Given the description of an element on the screen output the (x, y) to click on. 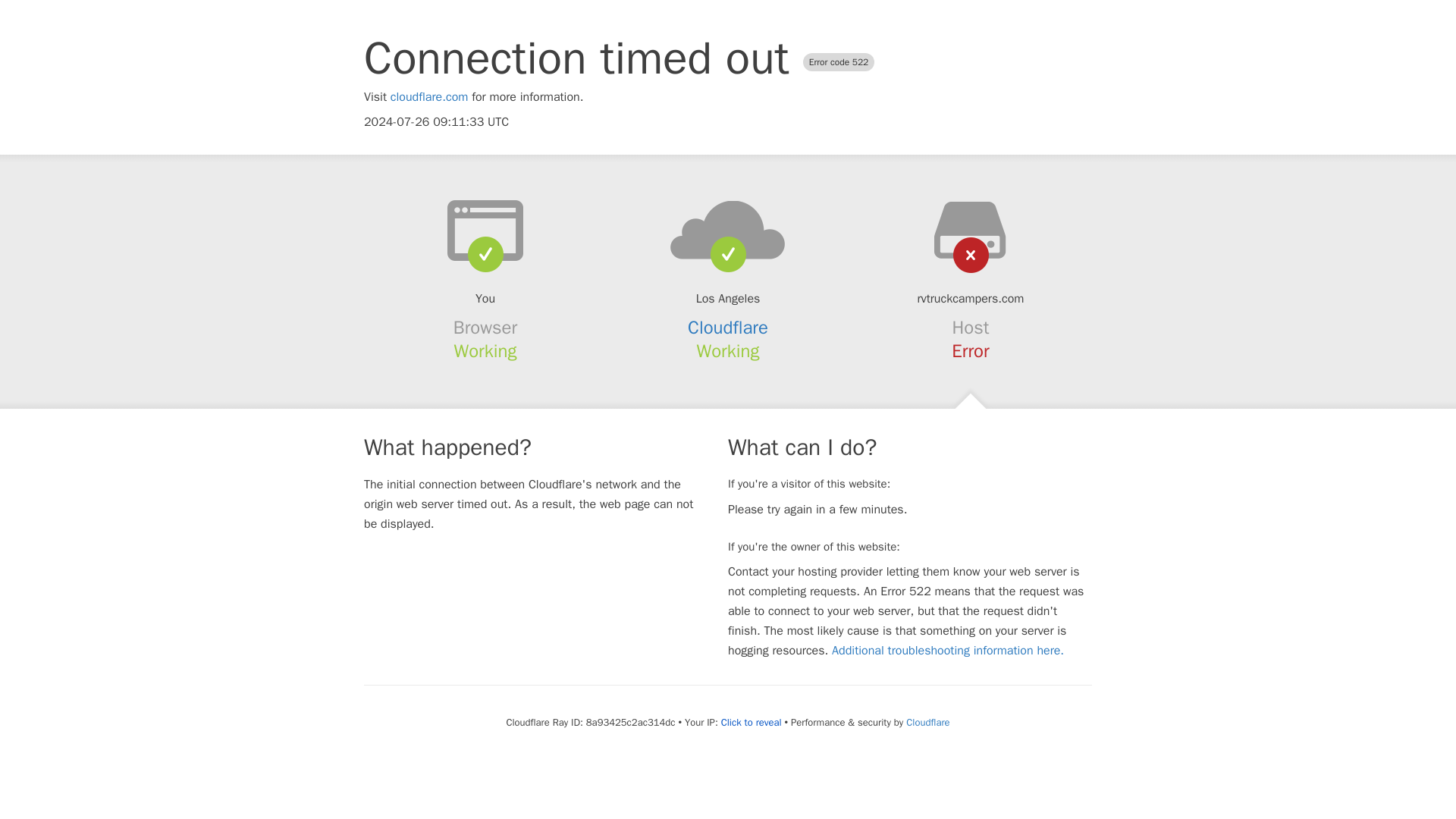
cloudflare.com (429, 96)
Cloudflare (727, 327)
Cloudflare (927, 721)
Additional troubleshooting information here. (947, 650)
Click to reveal (750, 722)
